Given the description of an element on the screen output the (x, y) to click on. 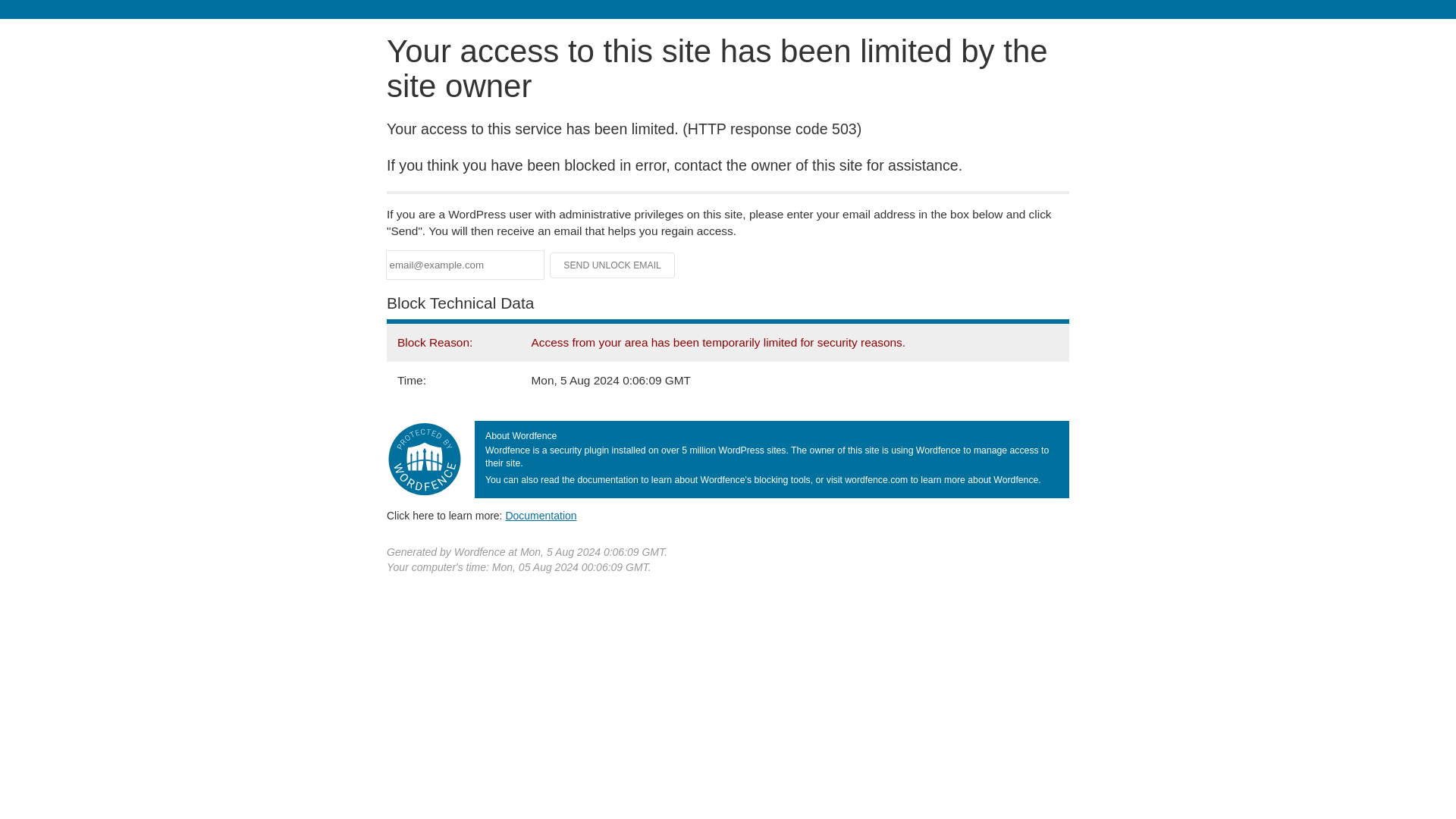
Documentation (540, 515)
Send Unlock Email (612, 265)
Send Unlock Email (612, 265)
